Given the description of an element on the screen output the (x, y) to click on. 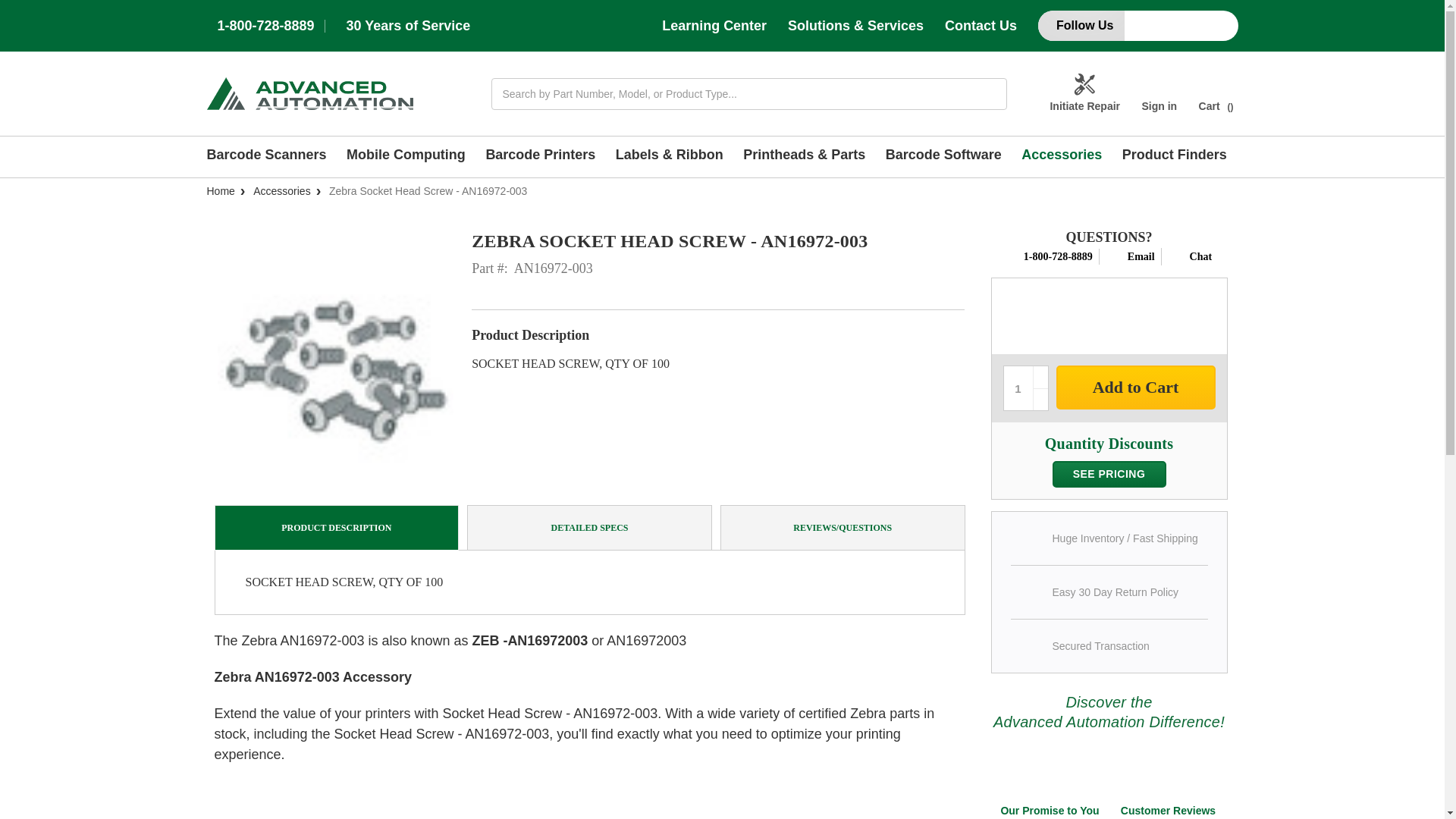
Add to Cart (1134, 387)
Barcode Scanners (271, 156)
1-800-728-8889 (265, 25)
Learning Center (714, 25)
1 (1018, 388)
Contact Us (980, 25)
Advanced Automation (309, 93)
Initiate Repair (1084, 93)
